Given the description of an element on the screen output the (x, y) to click on. 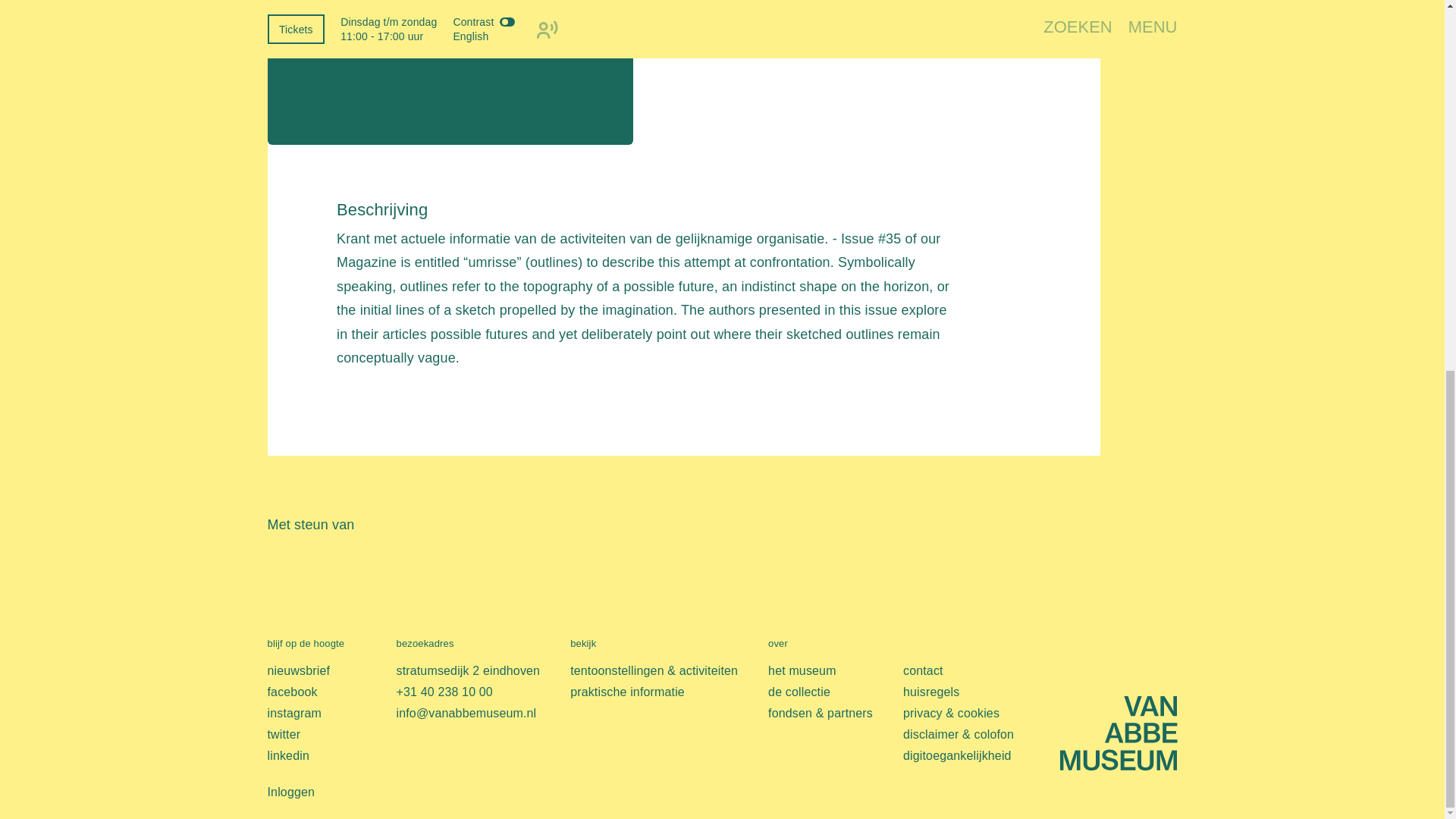
de collectie (798, 691)
huisregels (930, 691)
het museum (801, 670)
Ga naar de homepagina van Van Abbemuseum (1118, 60)
twitter (282, 734)
contact (922, 670)
digitoegankelijkheid (956, 755)
instagram (293, 712)
nieuwsbrief (298, 670)
linkedin (287, 755)
praktische informatie (627, 691)
facebook (291, 691)
